Given the description of an element on the screen output the (x, y) to click on. 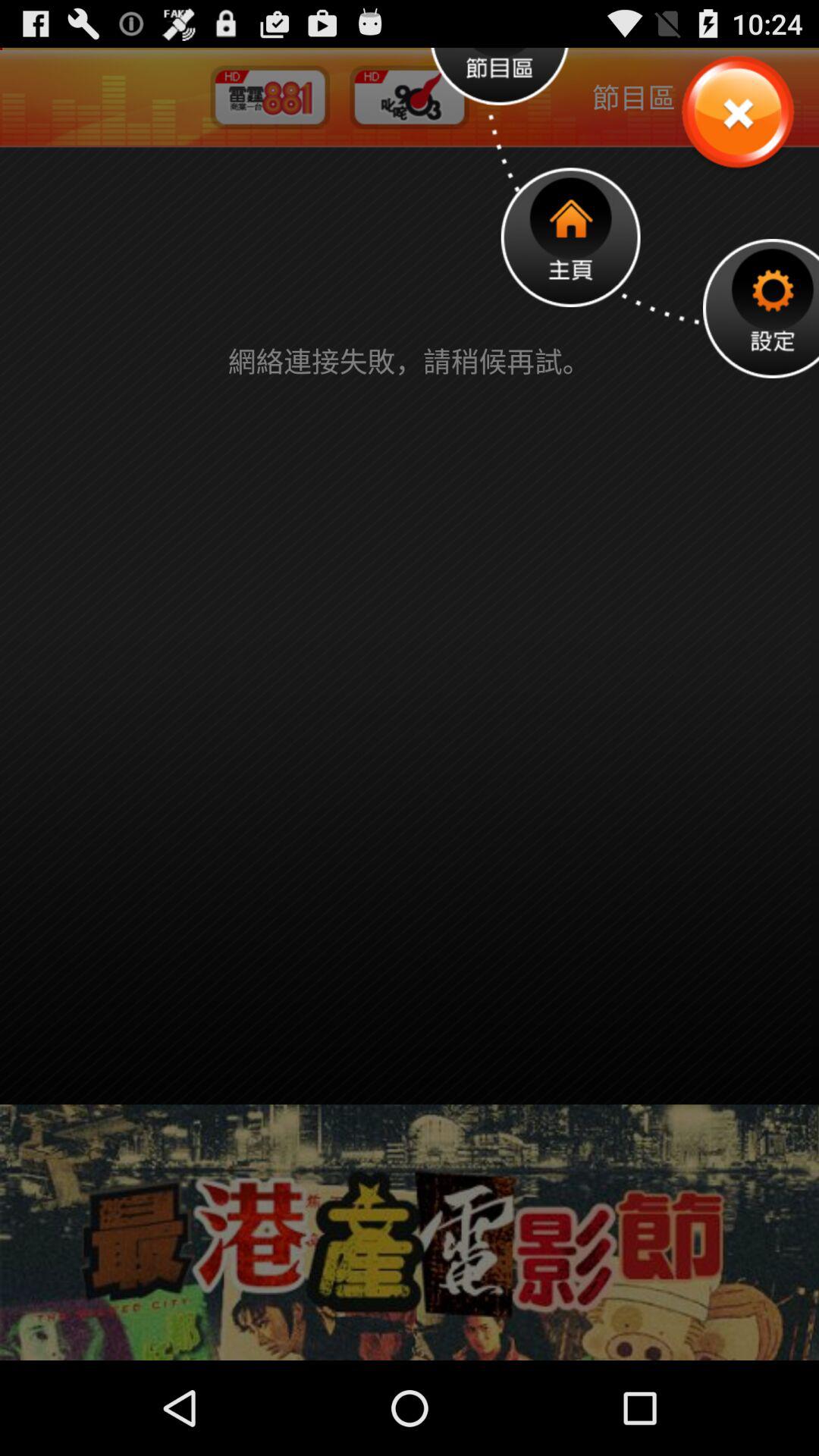
close the page (737, 113)
